Given the description of an element on the screen output the (x, y) to click on. 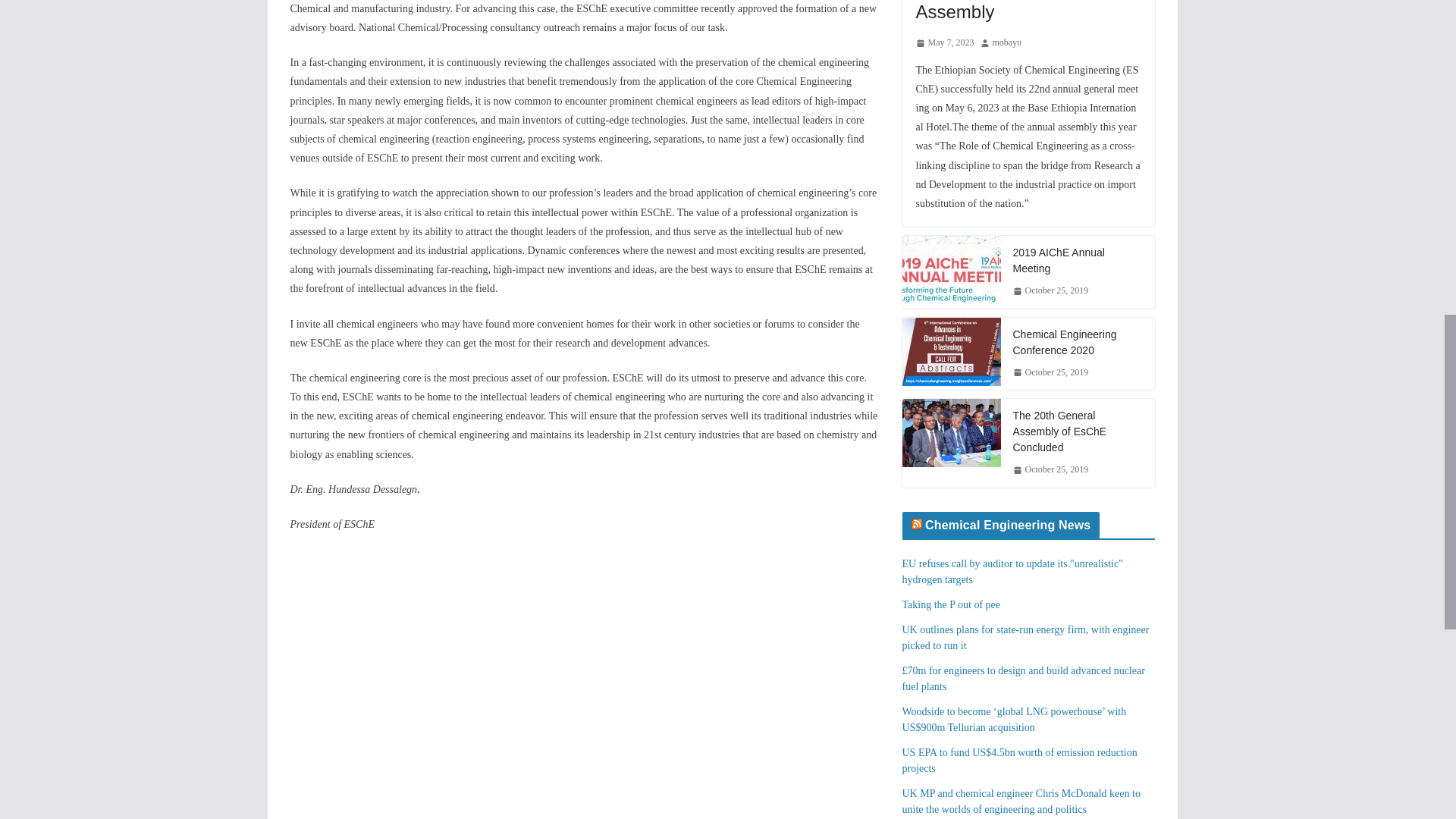
8:14 am (944, 43)
mobayu (1006, 43)
22th Annual General Assembly (1028, 12)
2019 AIChE Annual Meeting (951, 269)
2019 AIChE Annual Meeting (951, 271)
7:05 am (1051, 290)
2019 AIChE Annual Meeting (1077, 260)
